Given the description of an element on the screen output the (x, y) to click on. 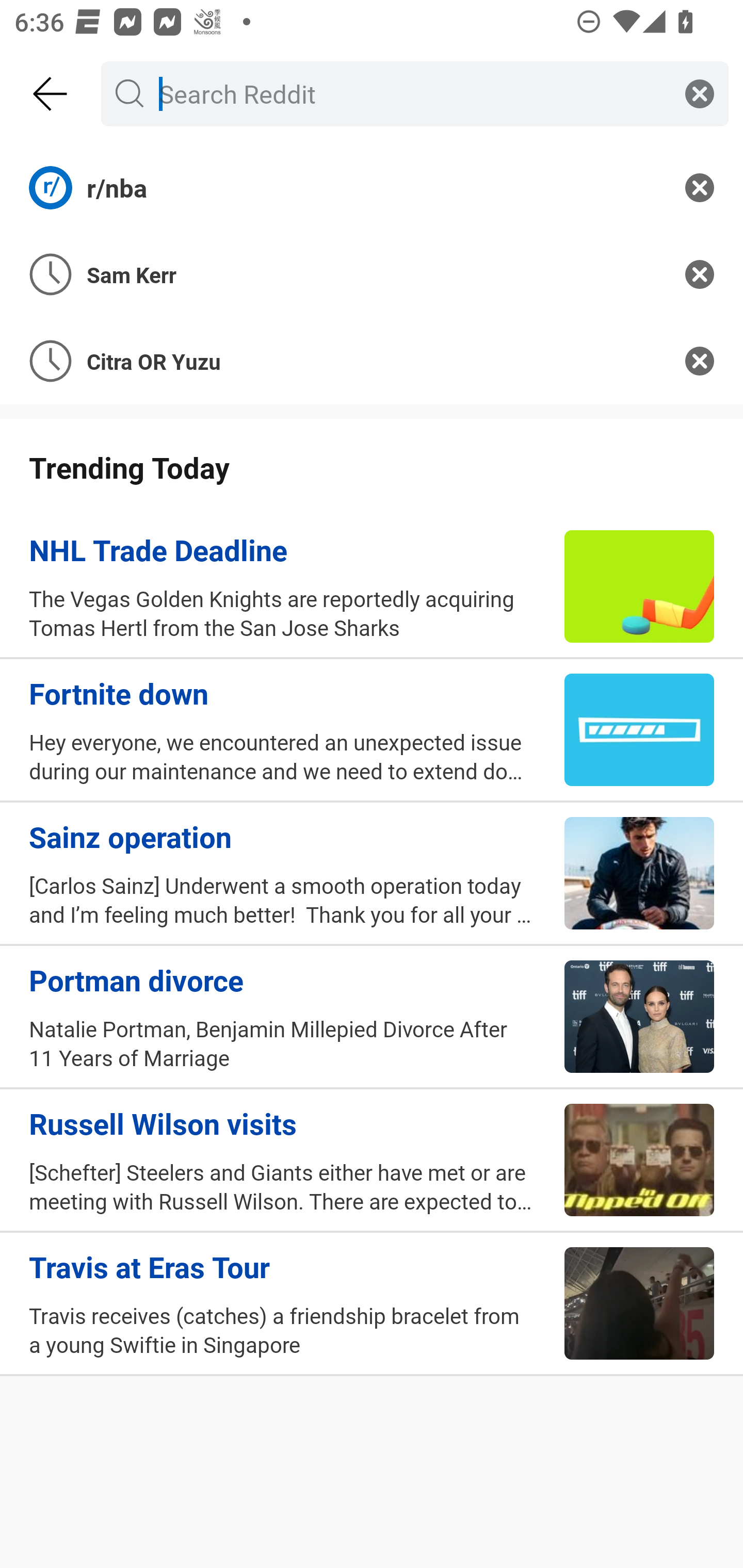
Back (50, 93)
Search Reddit (410, 93)
Clear search (699, 93)
r/nba Recent search: r/nba Remove (371, 187)
Remove (699, 187)
Sam Kerr Recent search: Sam Kerr Remove (371, 274)
Remove (699, 274)
Citra OR Yuzu Recent search: Citra OR Yuzu Remove (371, 361)
Remove (699, 361)
